Given the description of an element on the screen output the (x, y) to click on. 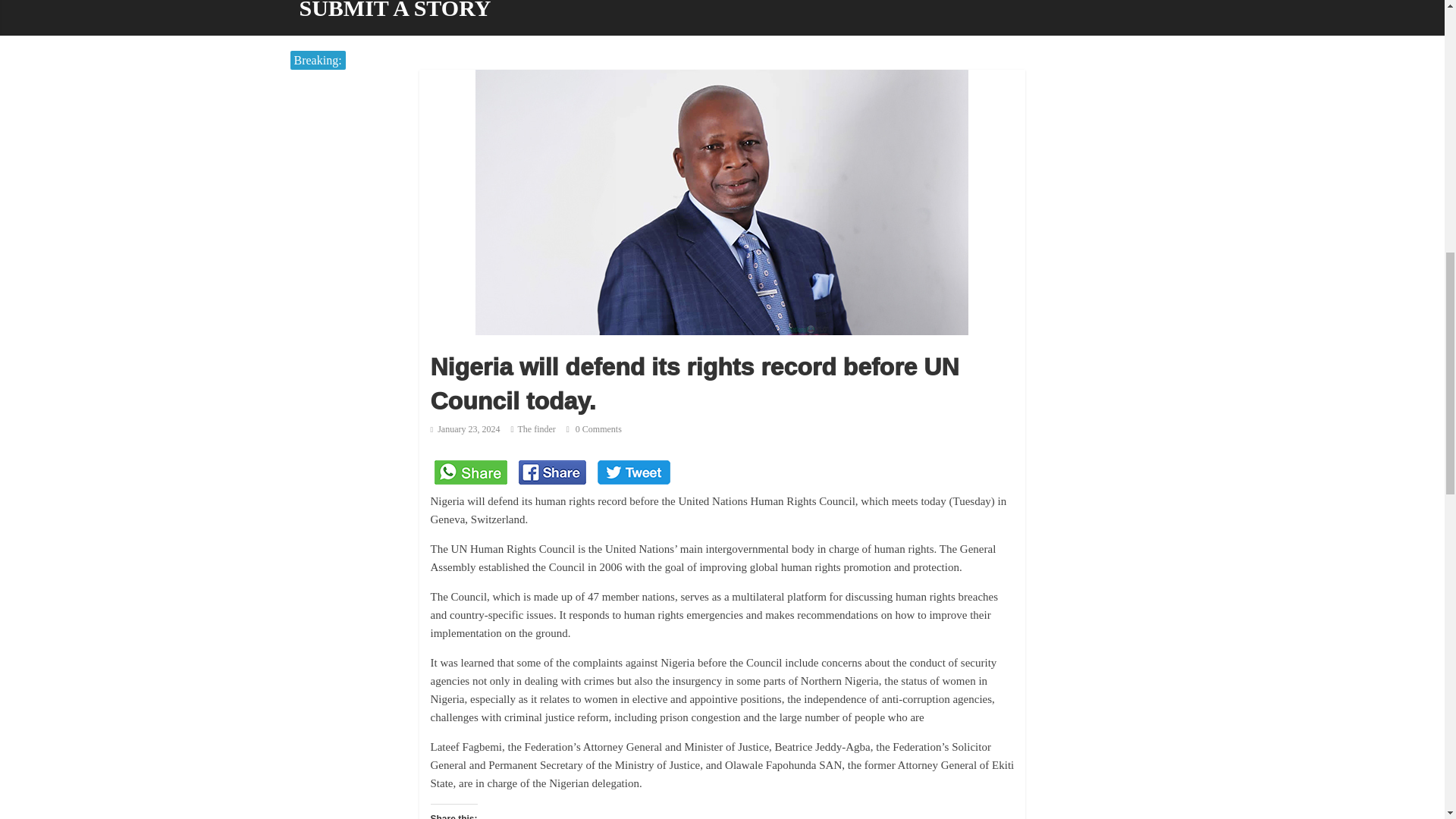
The finder (537, 429)
0 Comments (593, 429)
SUBMIT A STORY (394, 18)
January 23, 2024 (465, 429)
11:37 am (465, 429)
The finder (537, 429)
